Given the description of an element on the screen output the (x, y) to click on. 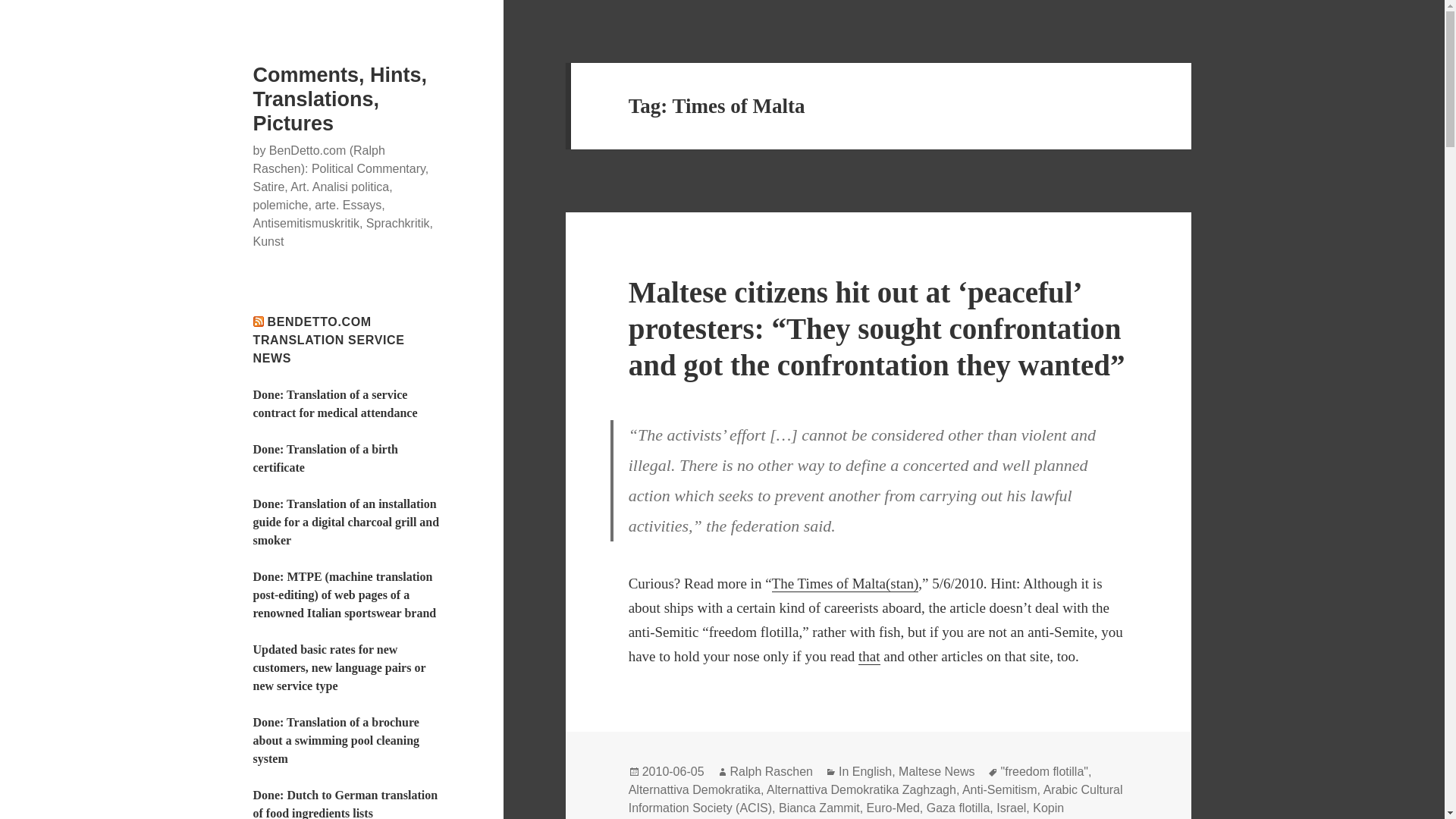
Comments, Hints, Translations, Pictures (340, 99)
Times of Malta (869, 656)
BENDETTO.COM TRANSLATION SERVICE NEWS (328, 339)
Done: Dutch to German translation of food ingredients lists (345, 803)
Done: Translation of a birth certificate (325, 458)
